Given the description of an element on the screen output the (x, y) to click on. 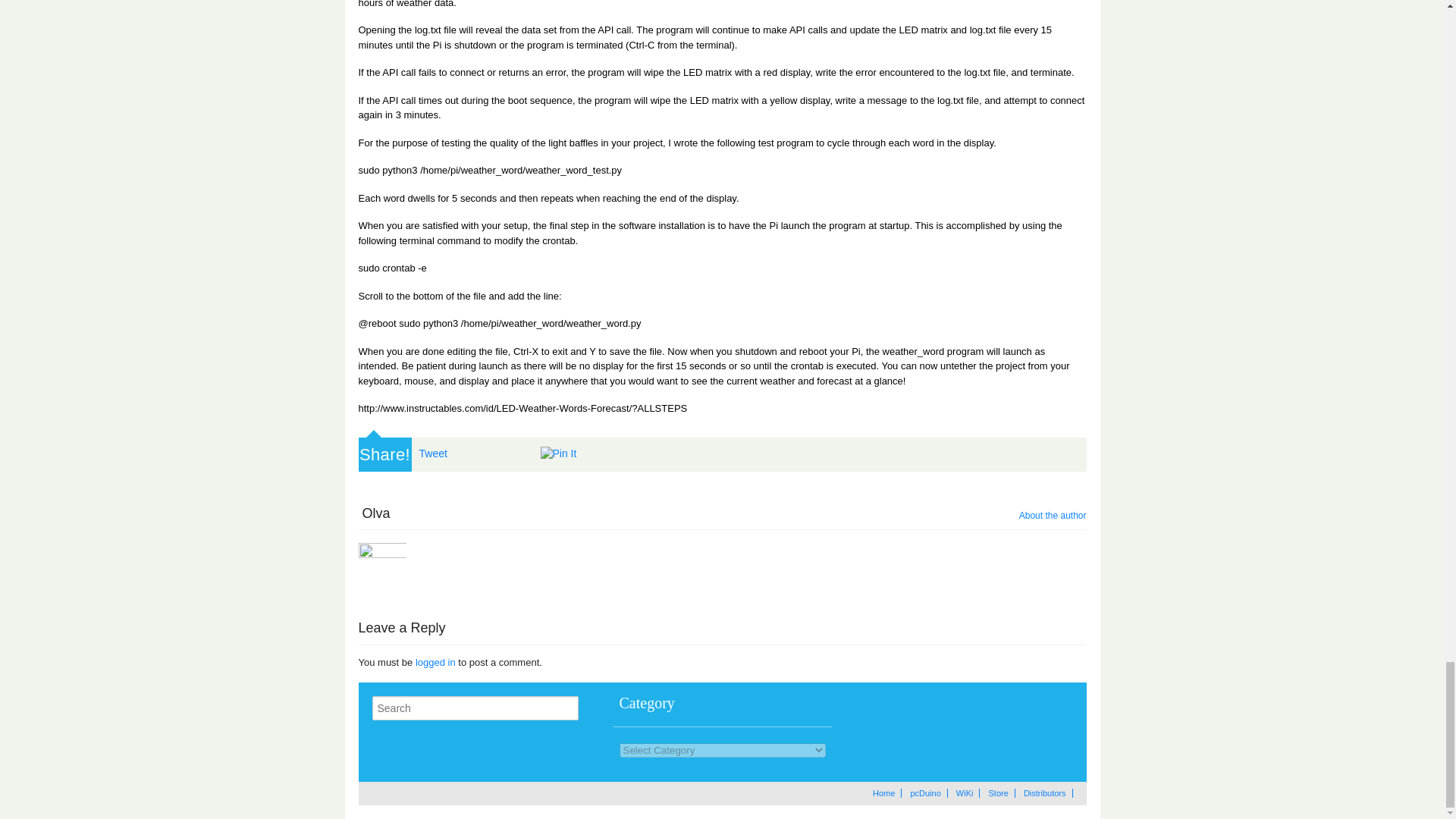
Search (563, 708)
Pin It (558, 453)
